Given the description of an element on the screen output the (x, y) to click on. 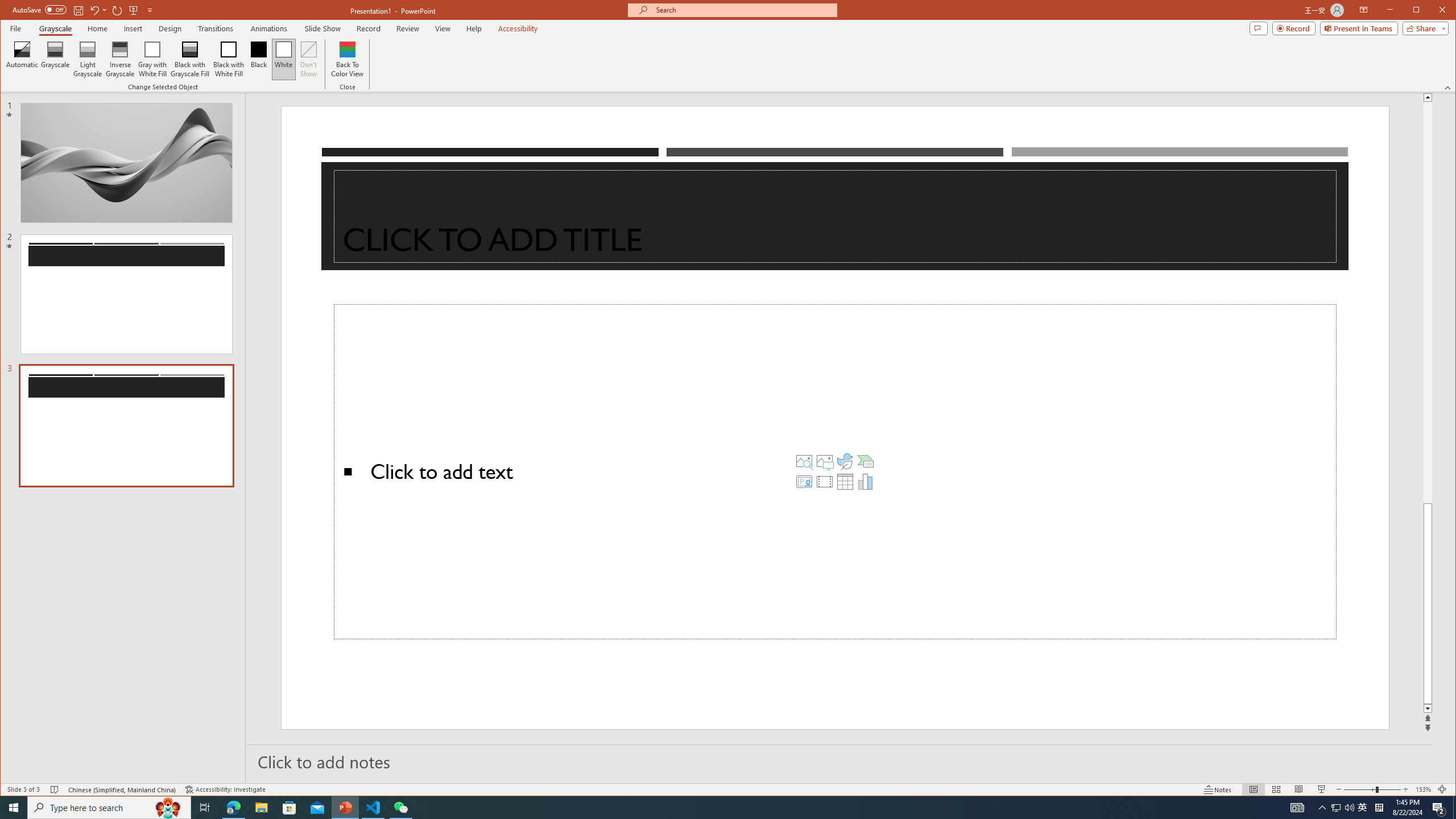
Light Grayscale (87, 59)
Insert Chart (865, 481)
Insert a SmartArt Graphic (865, 461)
Zoom 153% (1422, 789)
Insert Video (824, 481)
